Given the description of an element on the screen output the (x, y) to click on. 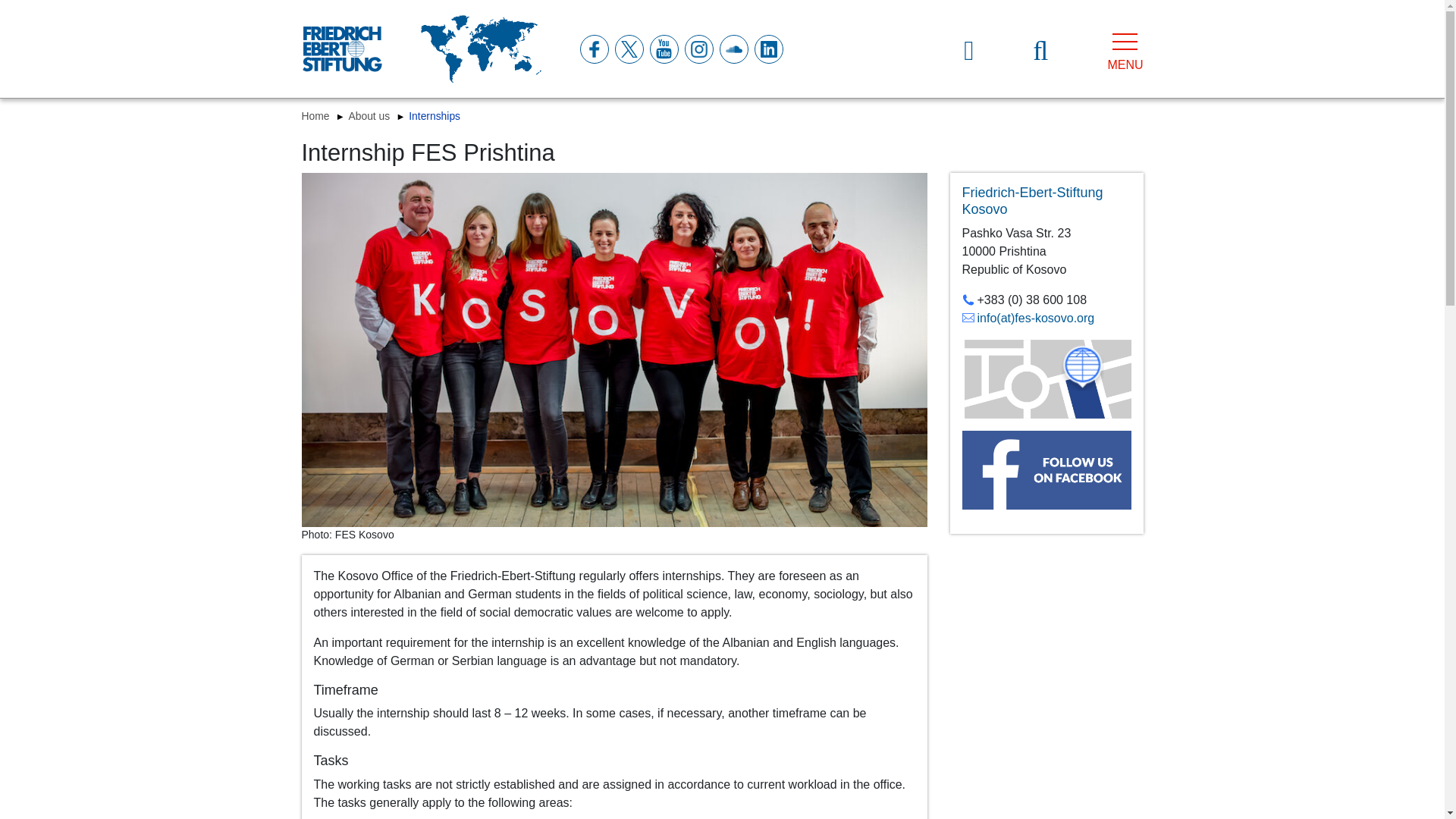
Email (1027, 318)
linkedin (768, 48)
Home (317, 115)
internal link (1033, 201)
Link to Home Page (341, 48)
facebook (593, 48)
instagram (698, 48)
soundcloud (733, 48)
twitter (628, 48)
